Given the description of an element on the screen output the (x, y) to click on. 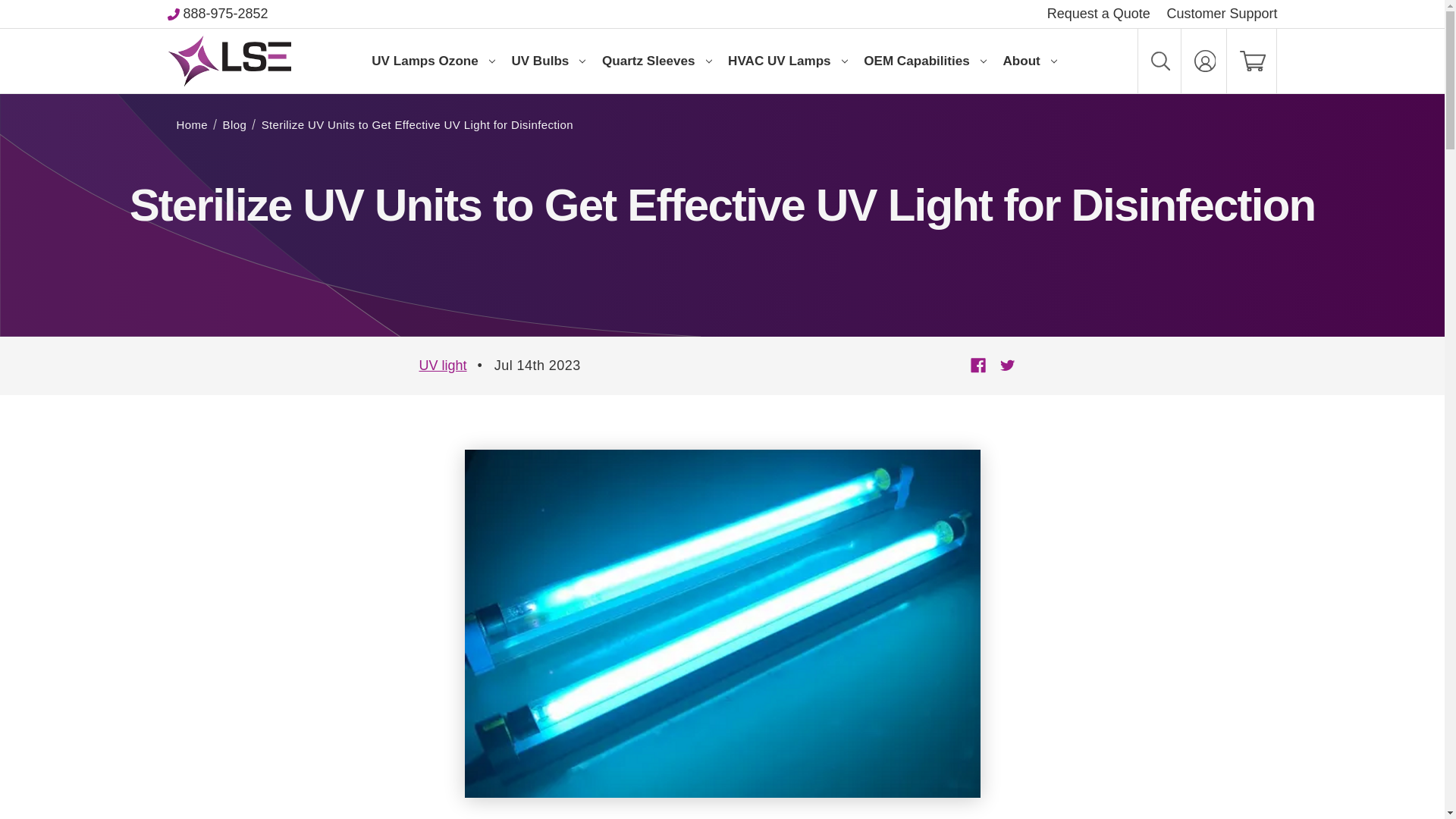
888-975-2852 (225, 13)
Request a Quote (1098, 13)
OEM Capabilities (925, 60)
UV Bulbs (548, 60)
HVAC UV Lamps (787, 60)
Light Spectrum Enterprises (229, 60)
Quartz Sleeves (656, 60)
Customer Support (1221, 13)
UV Lamps Ozone (432, 60)
